Given the description of an element on the screen output the (x, y) to click on. 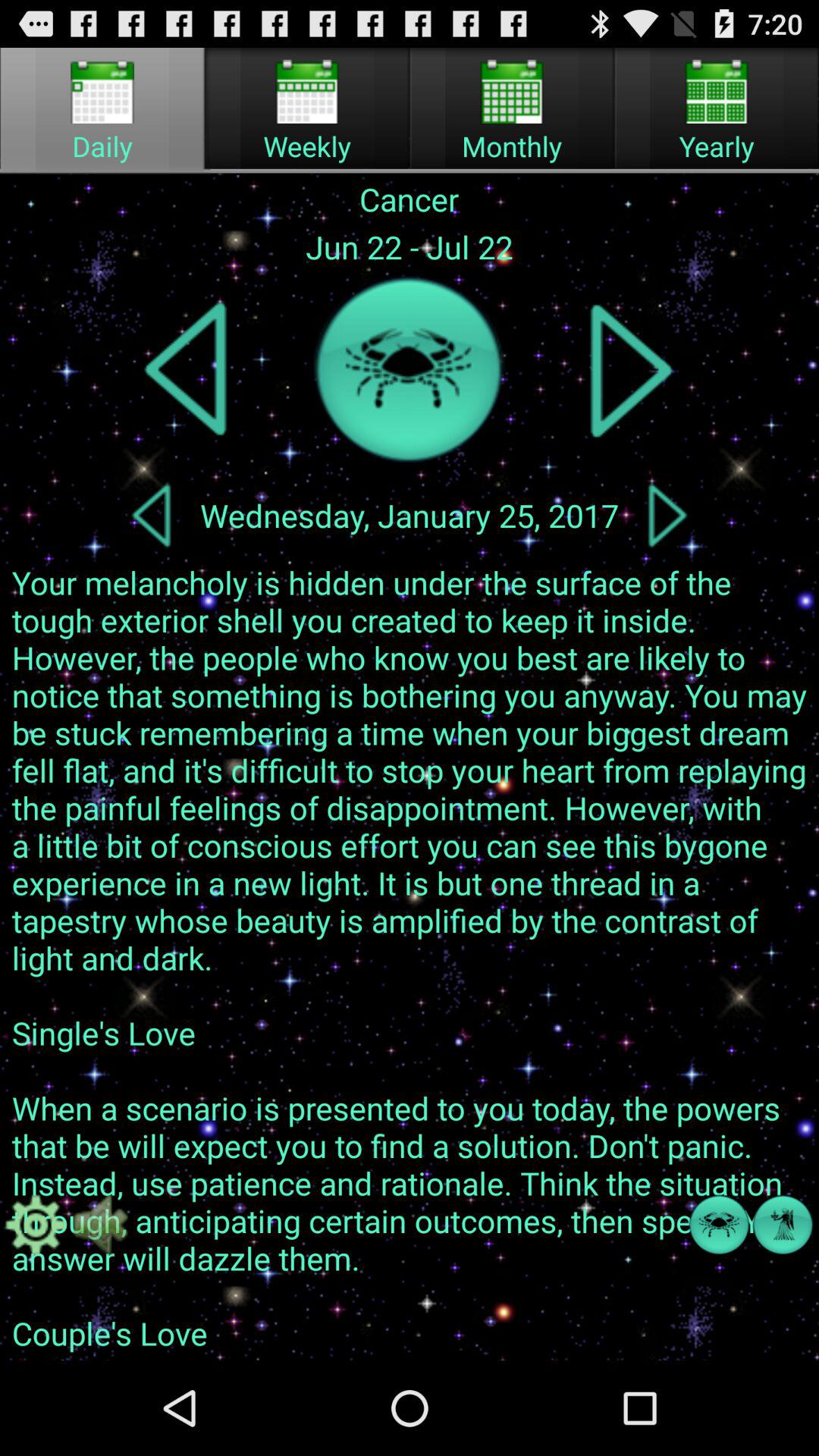
go to settings (35, 1224)
